Given the description of an element on the screen output the (x, y) to click on. 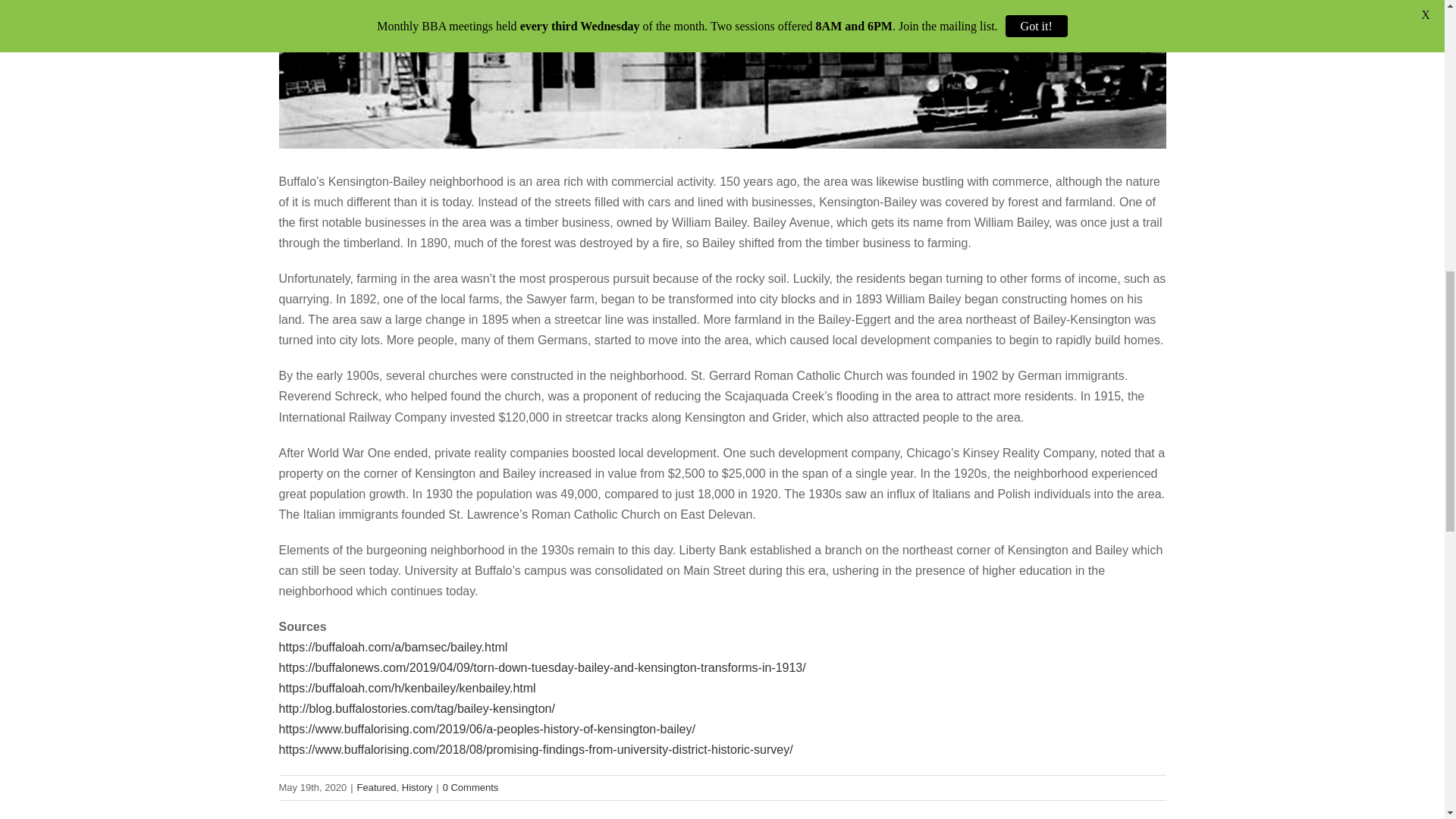
View Larger Image (722, 74)
